Given the description of an element on the screen output the (x, y) to click on. 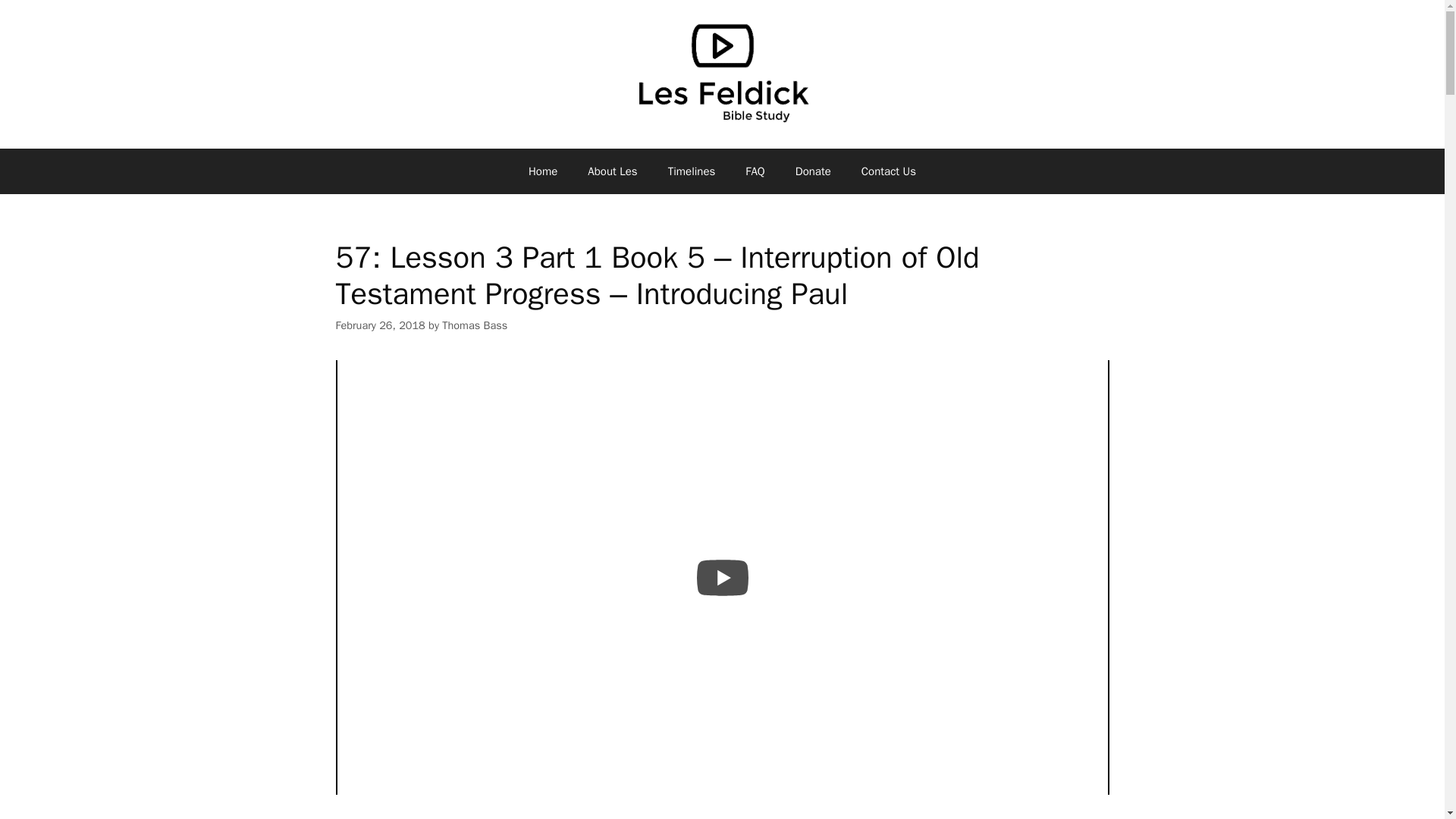
Home (542, 171)
About Les (612, 171)
Thomas Bass (474, 325)
FAQ (754, 171)
Les Feldick Bible Study (721, 72)
Timelines (691, 171)
Contact Us (888, 171)
Les Feldick Bible Study (721, 71)
View all posts by Thomas Bass (474, 325)
Donate (812, 171)
